Given the description of an element on the screen output the (x, y) to click on. 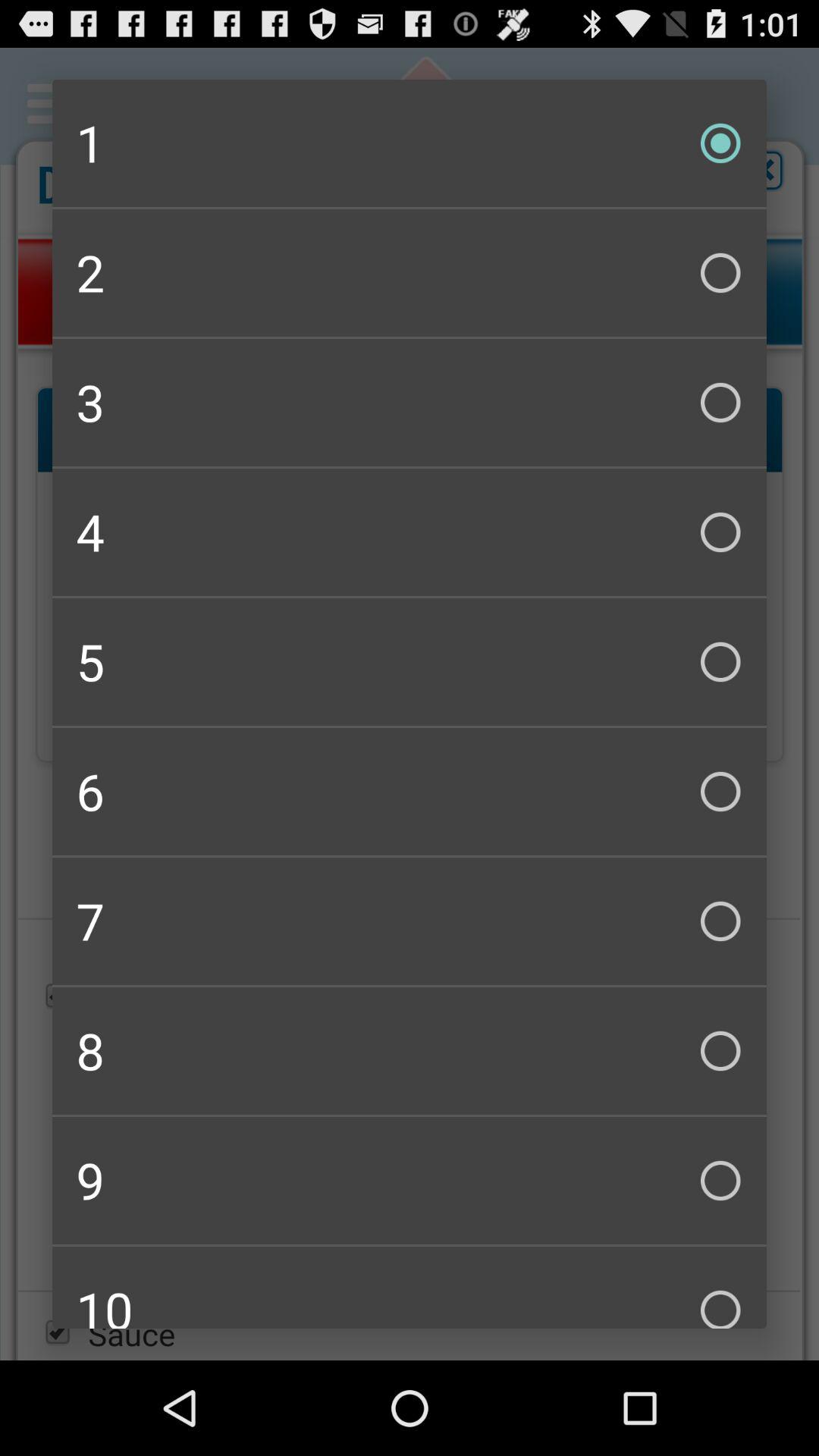
press the checkbox below 5 icon (409, 791)
